Given the description of an element on the screen output the (x, y) to click on. 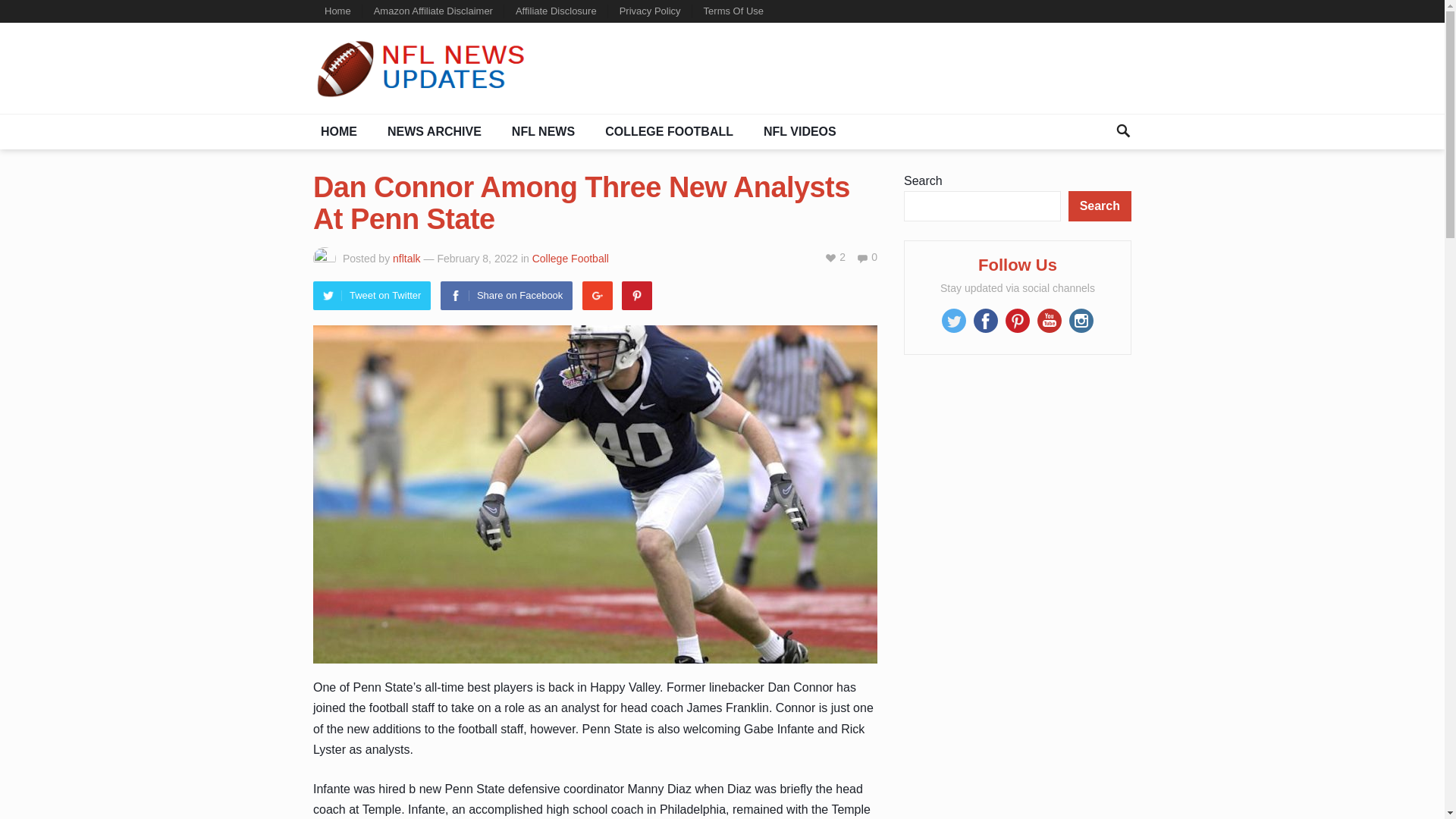
Tweet on Twitter (371, 295)
Like (834, 256)
Posts by nfltalk (406, 258)
College Football (570, 258)
Amazon Affiliate Disclaimer (432, 11)
0 (866, 256)
COLLEGE FOOTBALL (668, 131)
Pinterest (636, 295)
nfltalk (406, 258)
Affiliate Disclosure (555, 11)
2 (834, 256)
View all posts in College Football (570, 258)
Terms Of Use (733, 11)
HOME (339, 131)
NEWS ARCHIVE (434, 131)
